Given the description of an element on the screen output the (x, y) to click on. 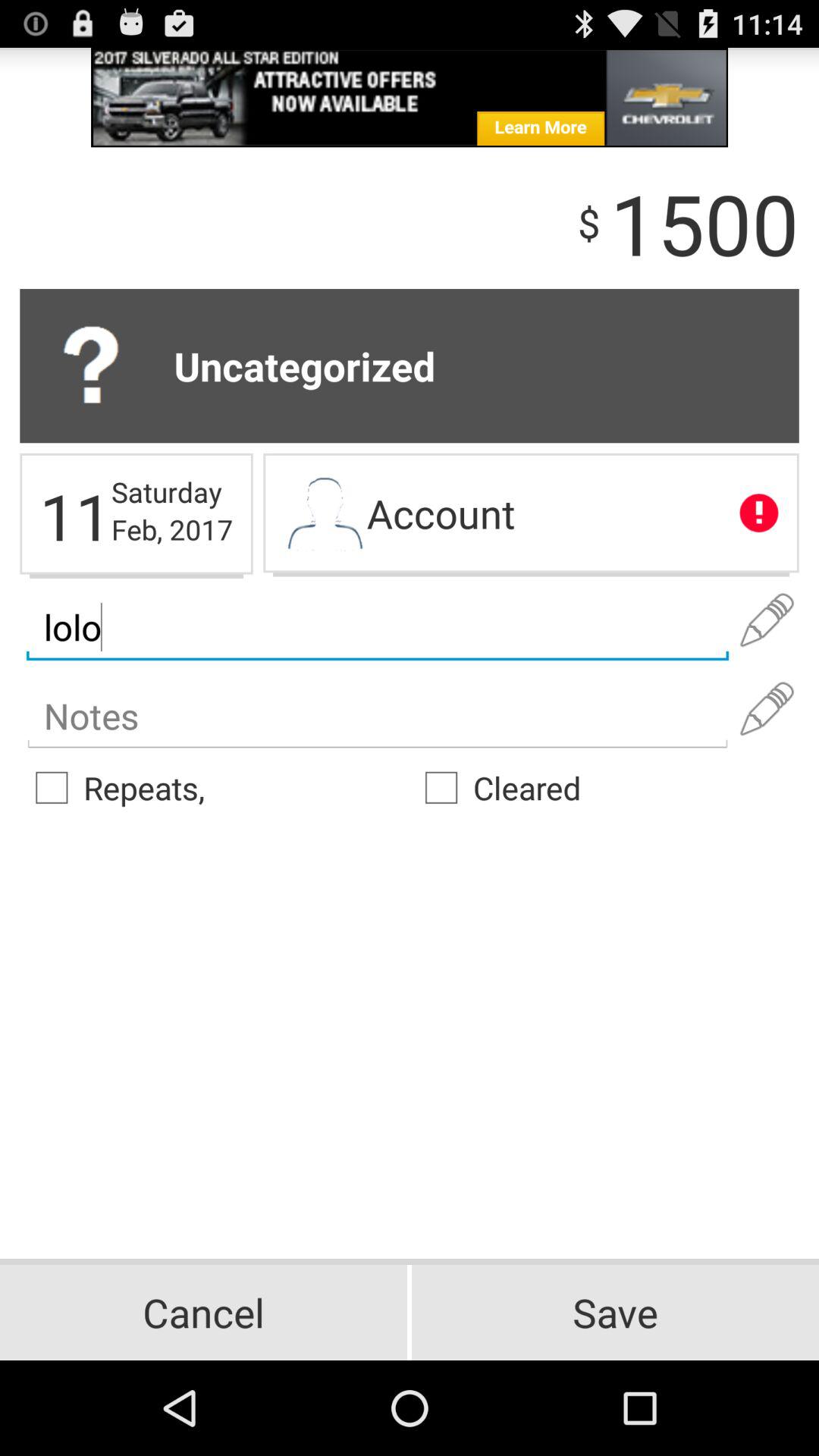
tax (377, 716)
